Given the description of an element on the screen output the (x, y) to click on. 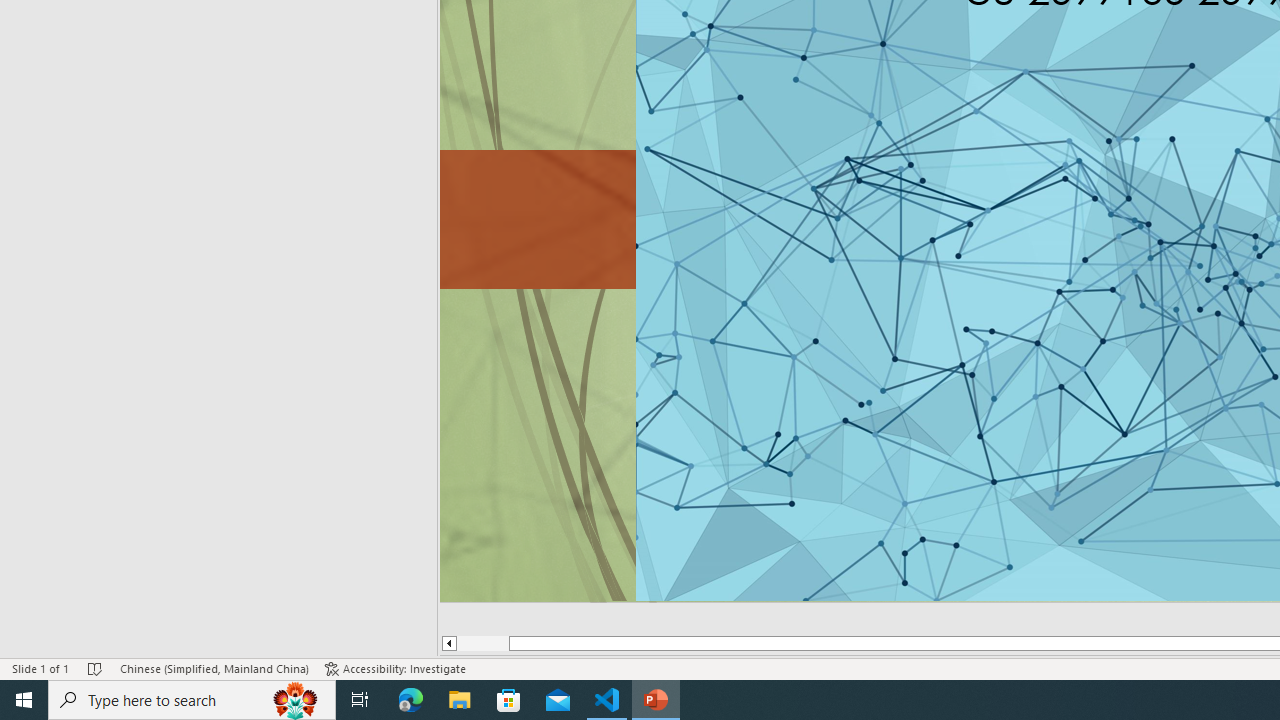
Spell Check No Errors (95, 668)
Accessibility Checker Accessibility: Investigate (395, 668)
